Given the description of an element on the screen output the (x, y) to click on. 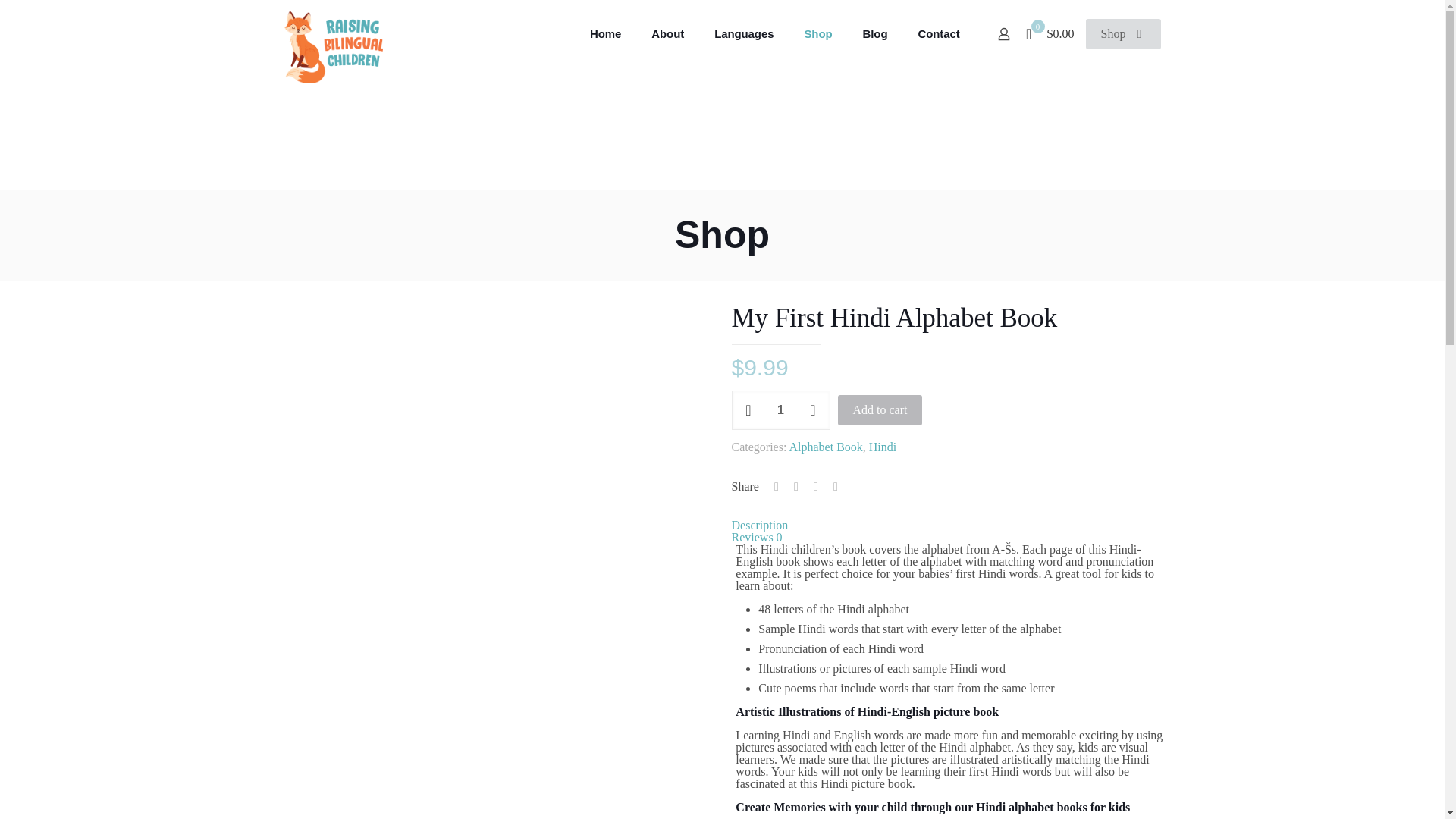
About (667, 33)
Add to cart (879, 409)
Description (758, 524)
Shop (1123, 33)
Hindi (882, 446)
Alphabet Book (825, 446)
Contact (938, 33)
Raising Bilingual Children (332, 33)
1 (779, 409)
Home (605, 33)
Languages (743, 33)
Reviews 0 (755, 536)
